Given the description of an element on the screen output the (x, y) to click on. 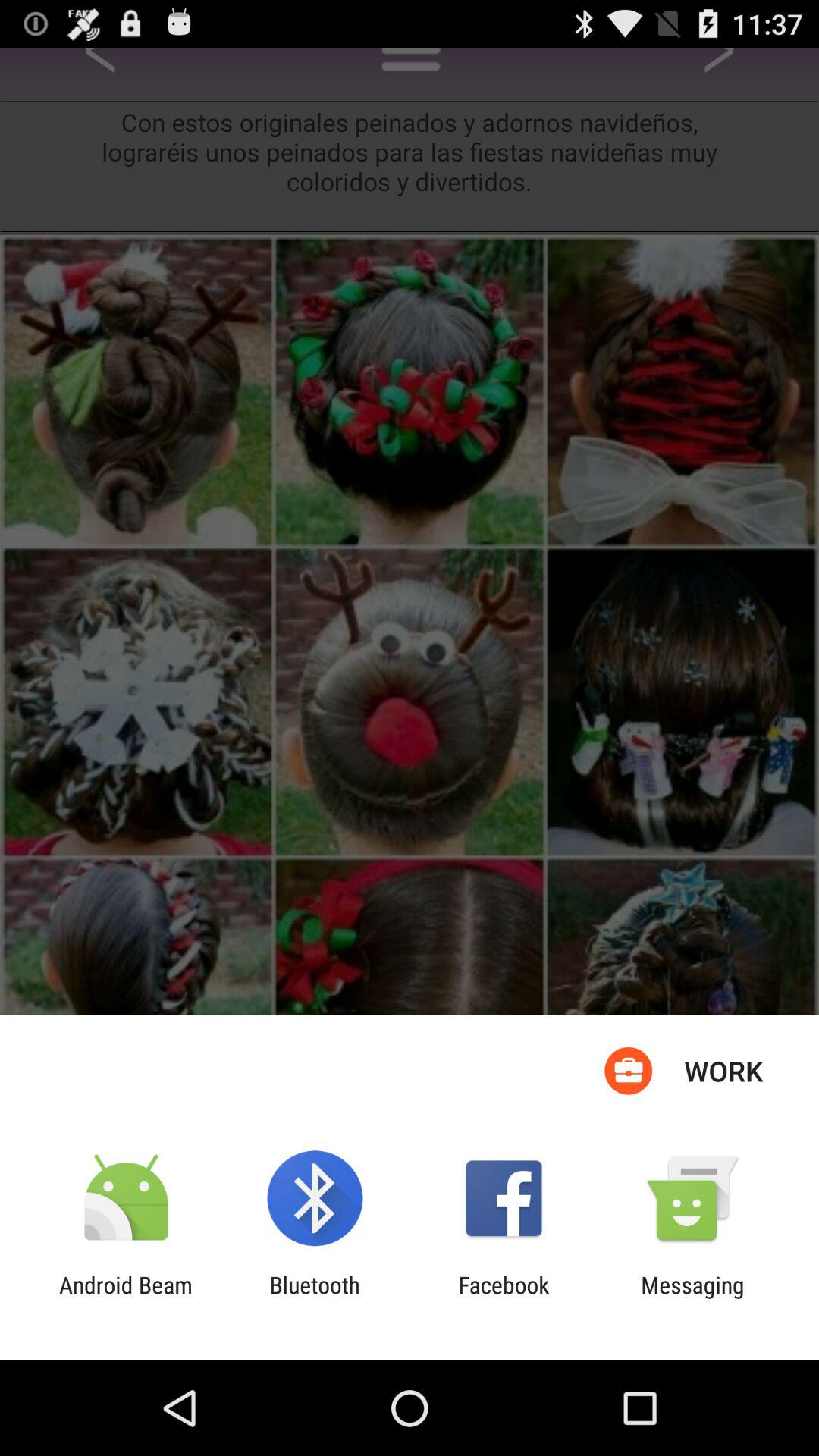
turn on the messaging app (692, 1298)
